Given the description of an element on the screen output the (x, y) to click on. 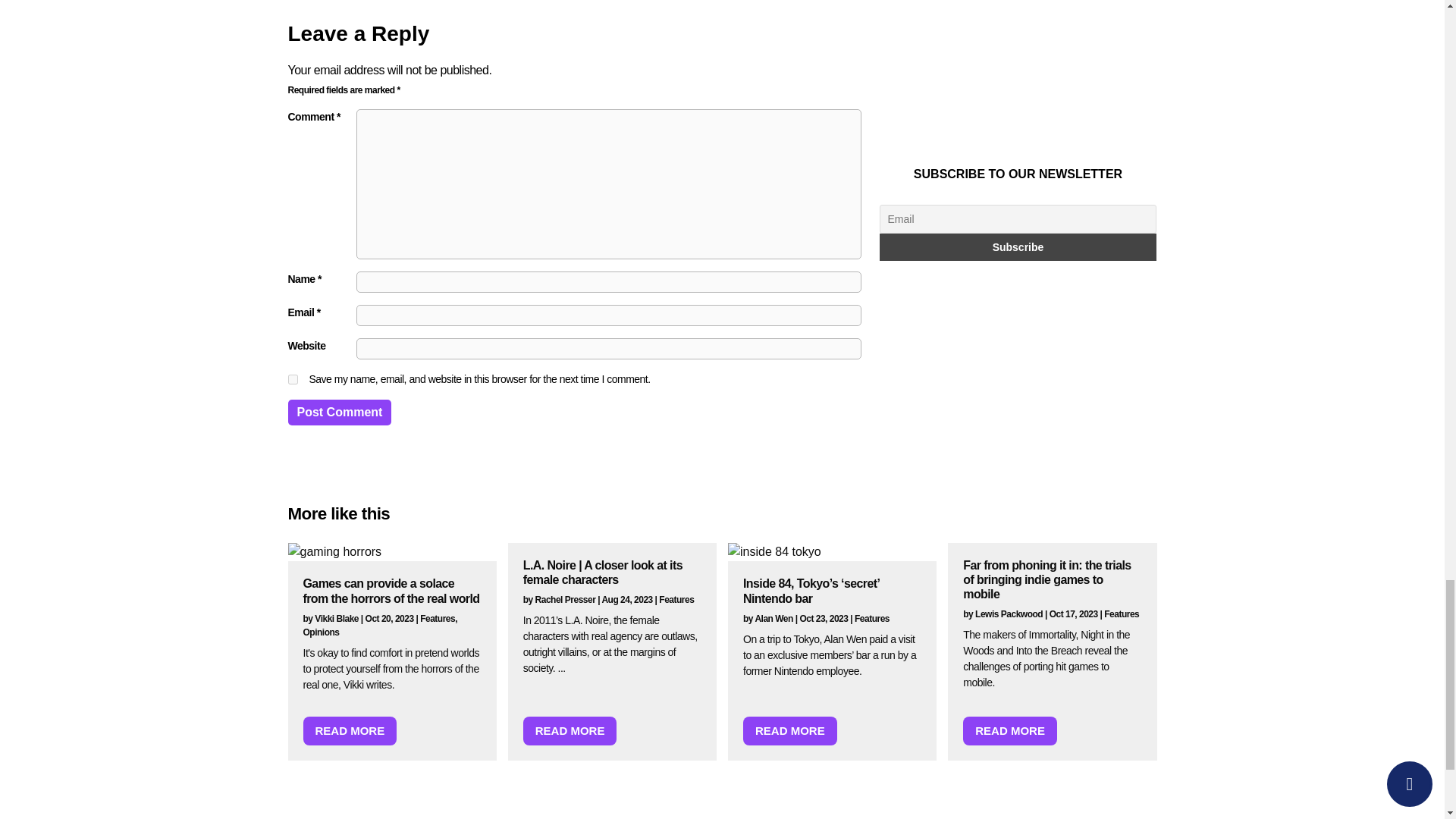
yes (293, 379)
Post Comment (339, 412)
Post Comment (339, 412)
